Given the description of an element on the screen output the (x, y) to click on. 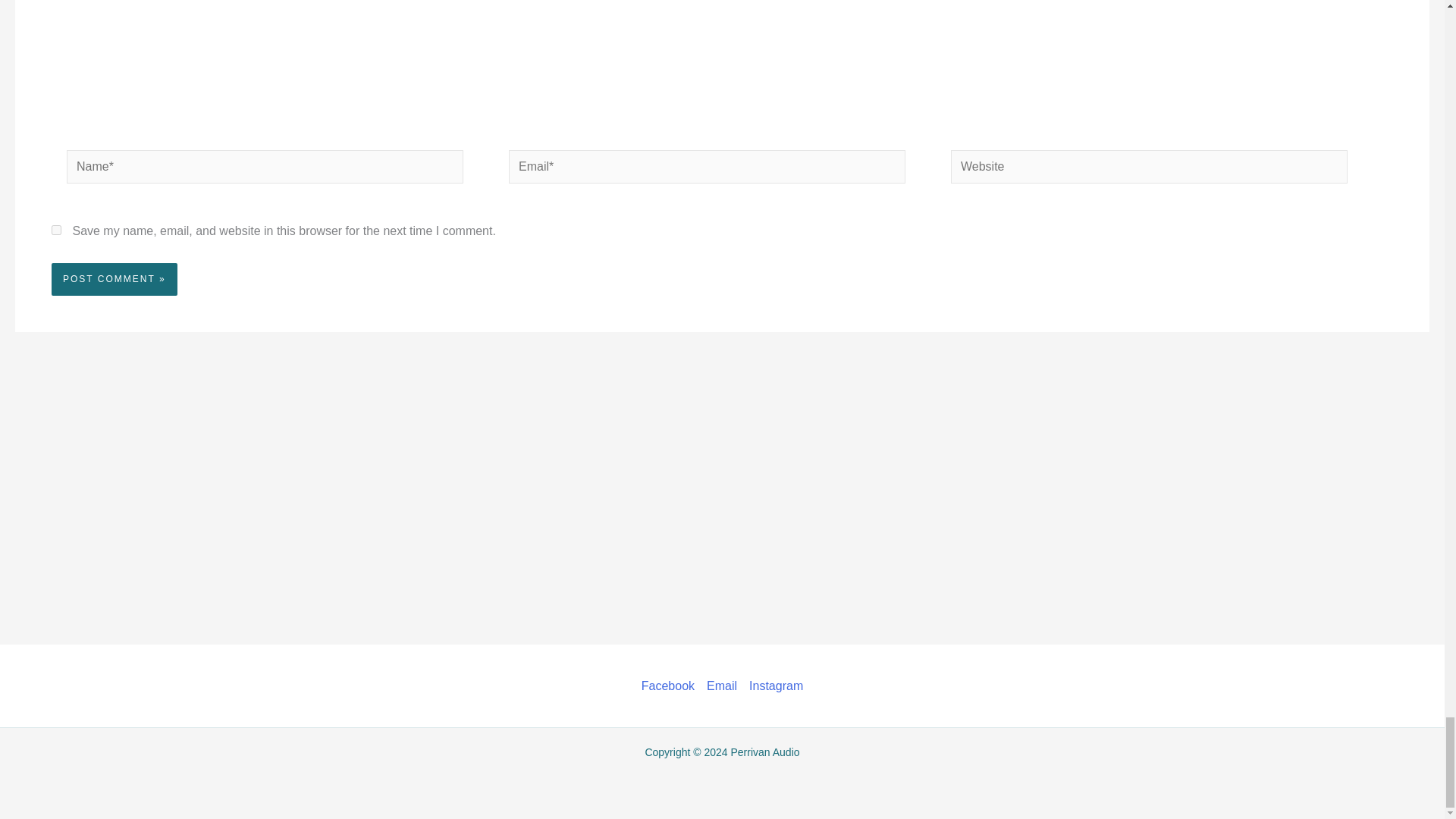
yes (55, 230)
Email (721, 685)
Instagram (772, 685)
Facebook (671, 685)
